Given the description of an element on the screen output the (x, y) to click on. 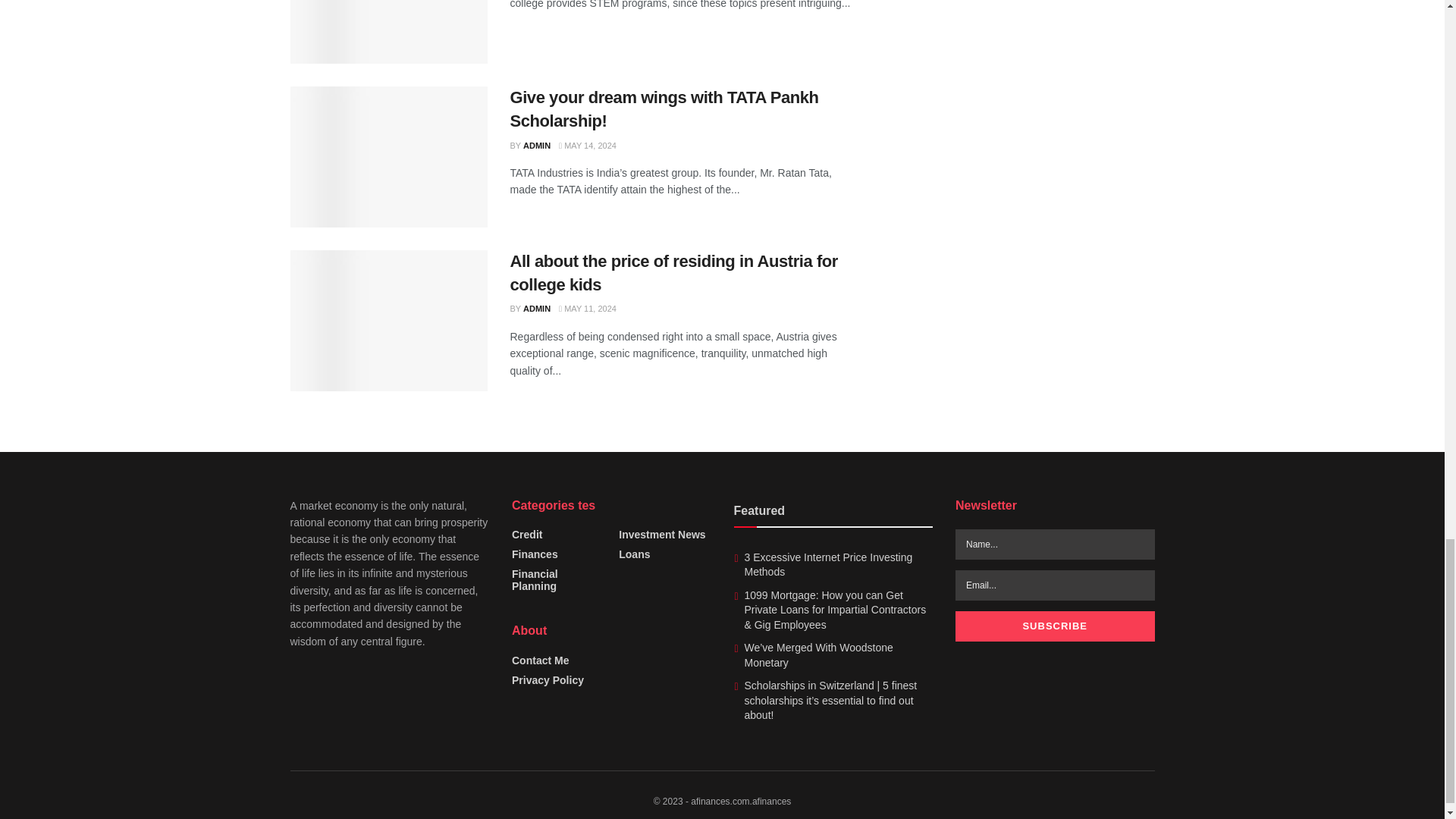
Subscribe (1054, 625)
